Given the description of an element on the screen output the (x, y) to click on. 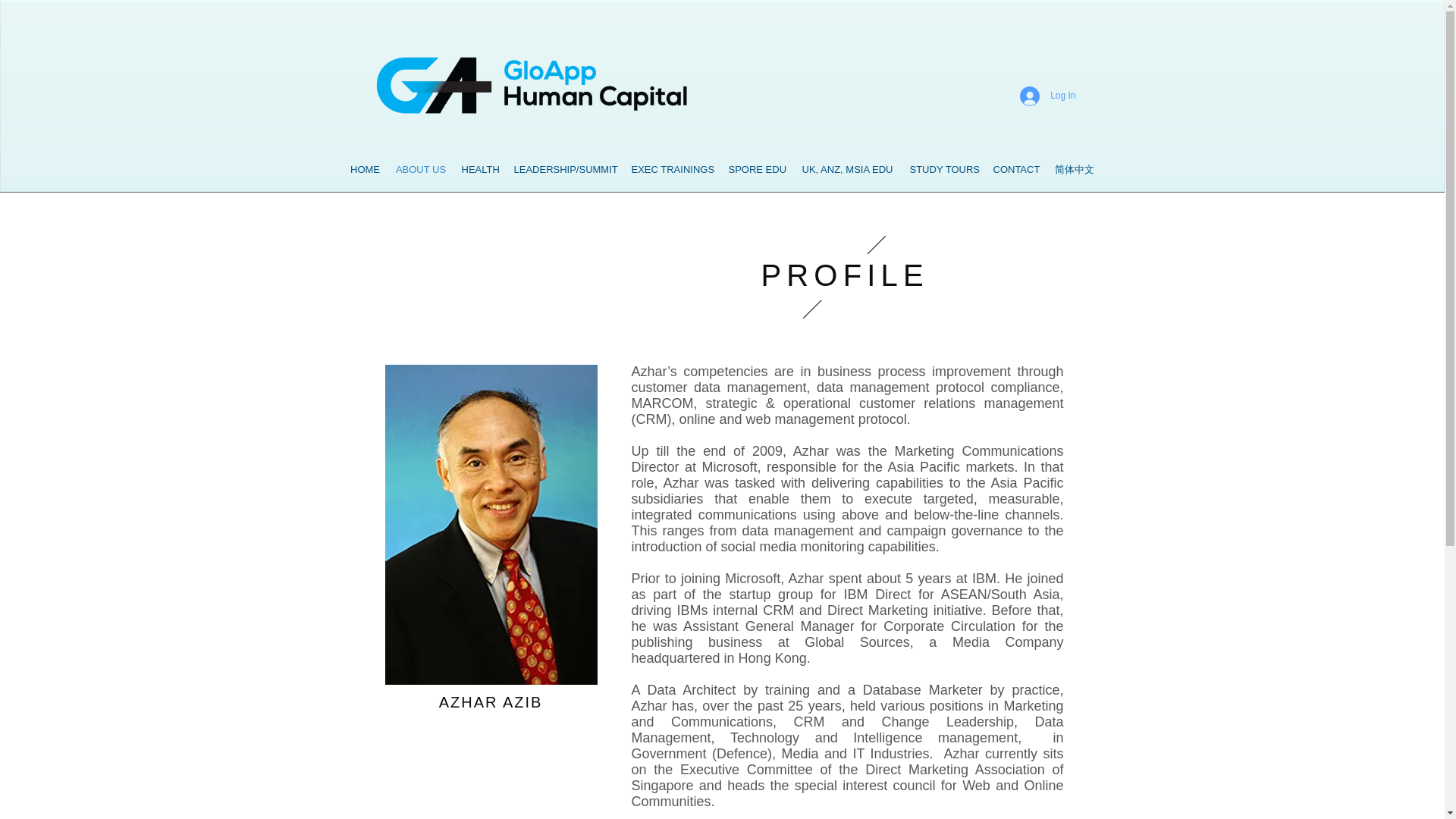
HOME (365, 169)
HEALTH (478, 169)
Shape-1-copy-2.png (843, 276)
Log In (1047, 95)
EXEC TRAININGS (671, 169)
ABOUT US (421, 169)
